Given the description of an element on the screen output the (x, y) to click on. 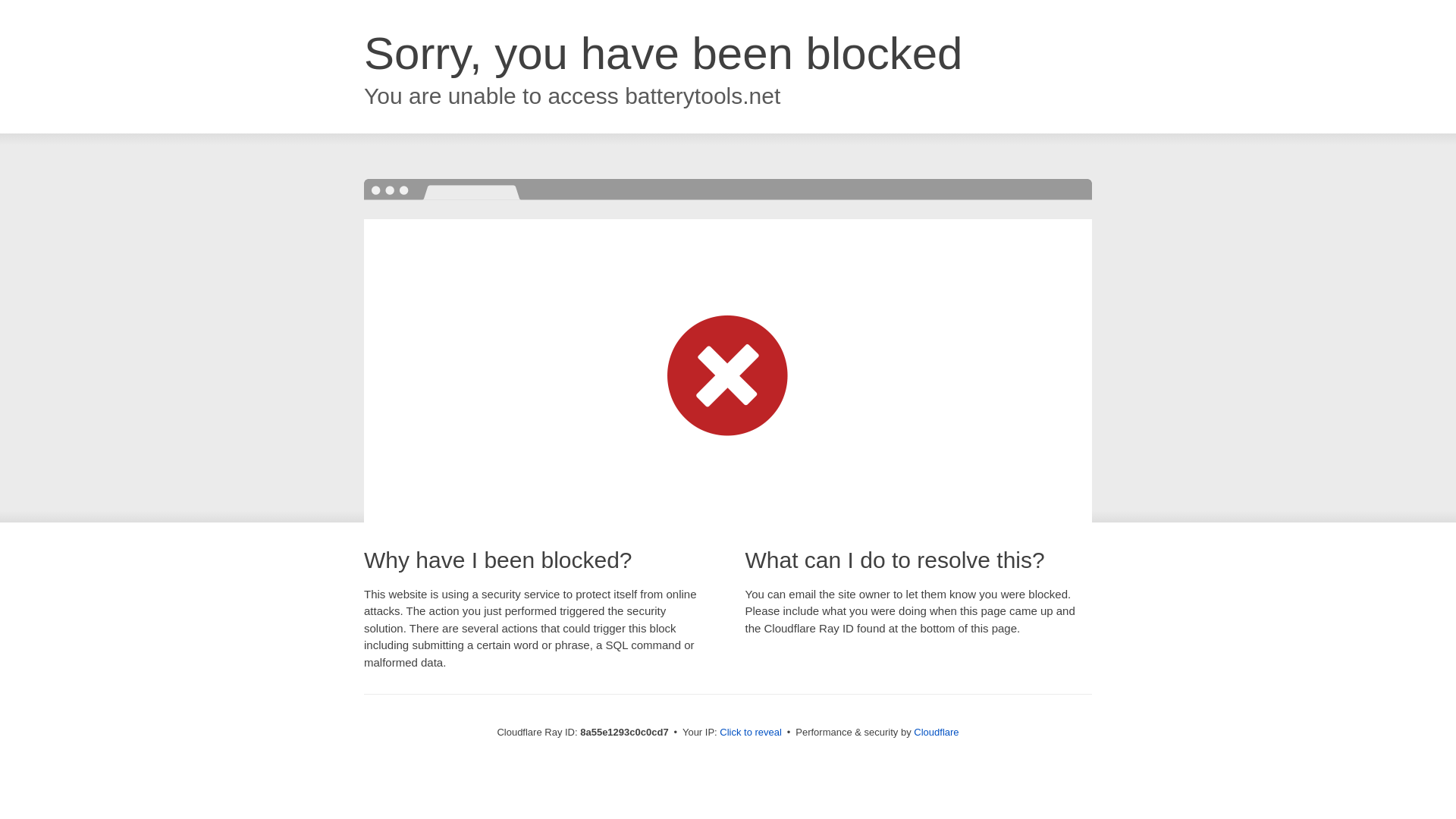
Cloudflare (936, 731)
Click to reveal (750, 732)
